Given the description of an element on the screen output the (x, y) to click on. 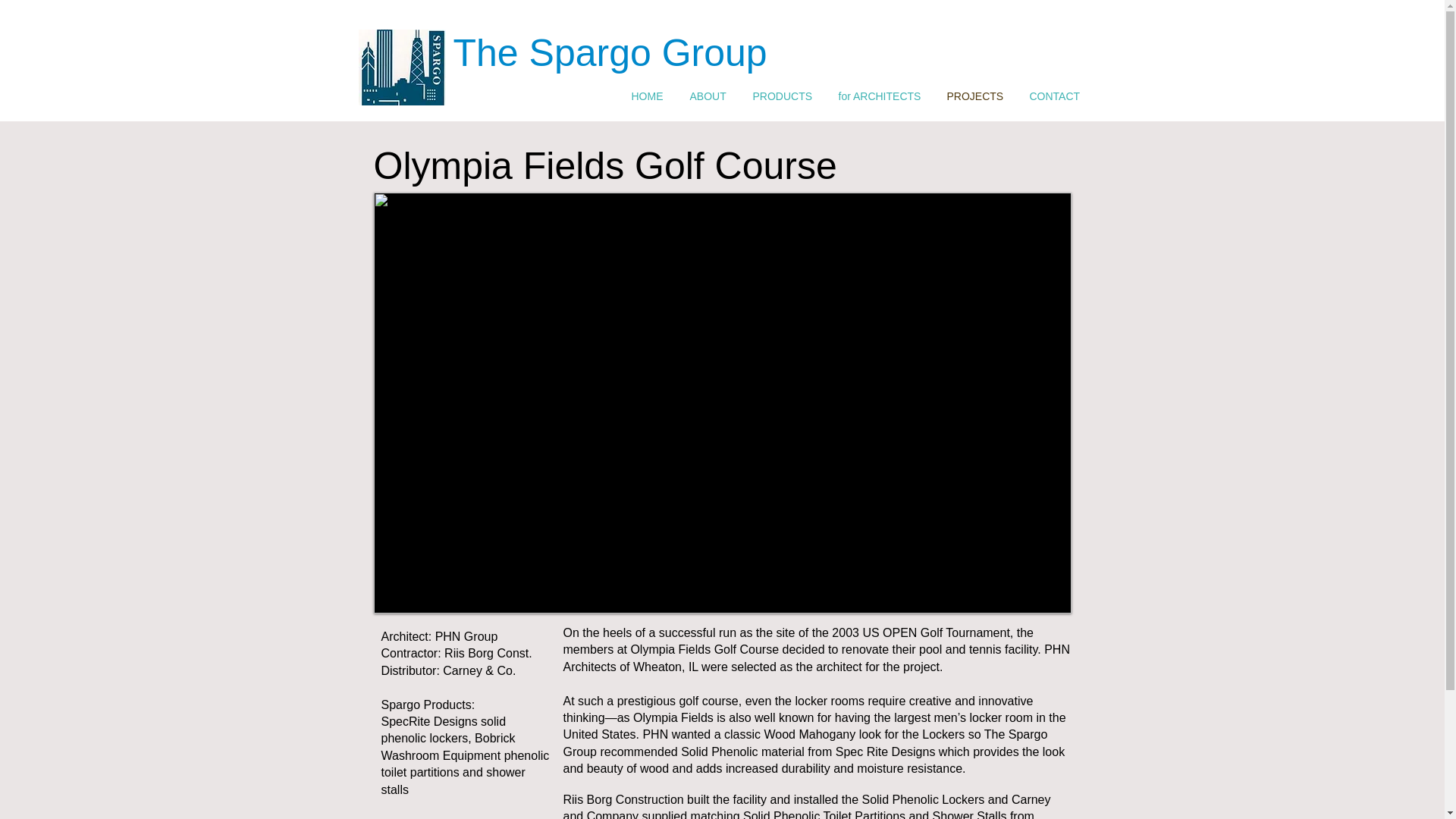
HOME (649, 96)
PRODUCTS (784, 96)
ABOUT (709, 96)
PROJECTS (976, 96)
CONTACT (1055, 96)
for ARCHITECTS (880, 96)
